Given the description of an element on the screen output the (x, y) to click on. 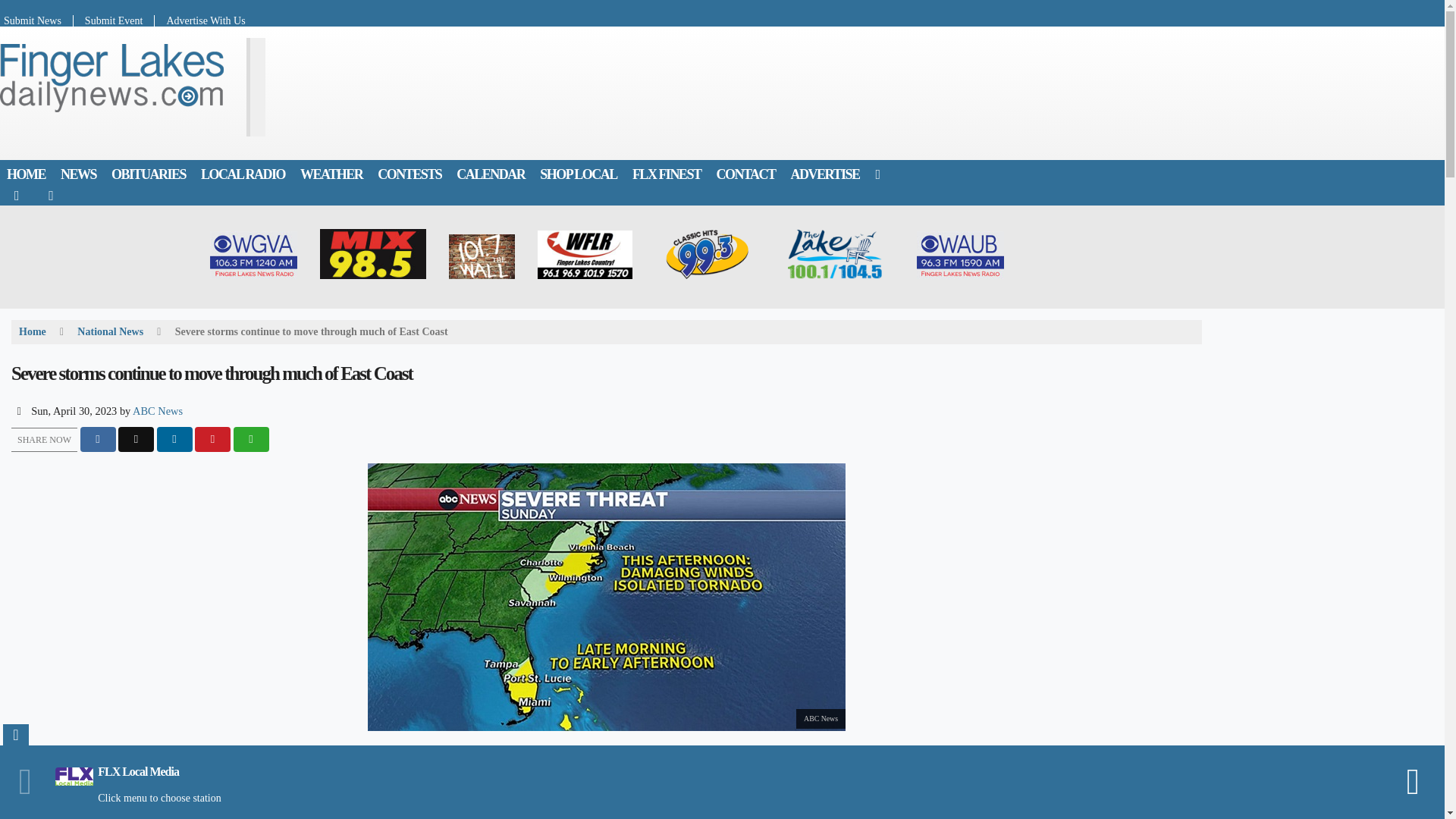
Submit News (37, 20)
Submit Event (114, 20)
Posts by ABC News (157, 410)
Advertise With Us (199, 20)
Follow us on Facebook (16, 195)
Follow us on X (50, 195)
